Given the description of an element on the screen output the (x, y) to click on. 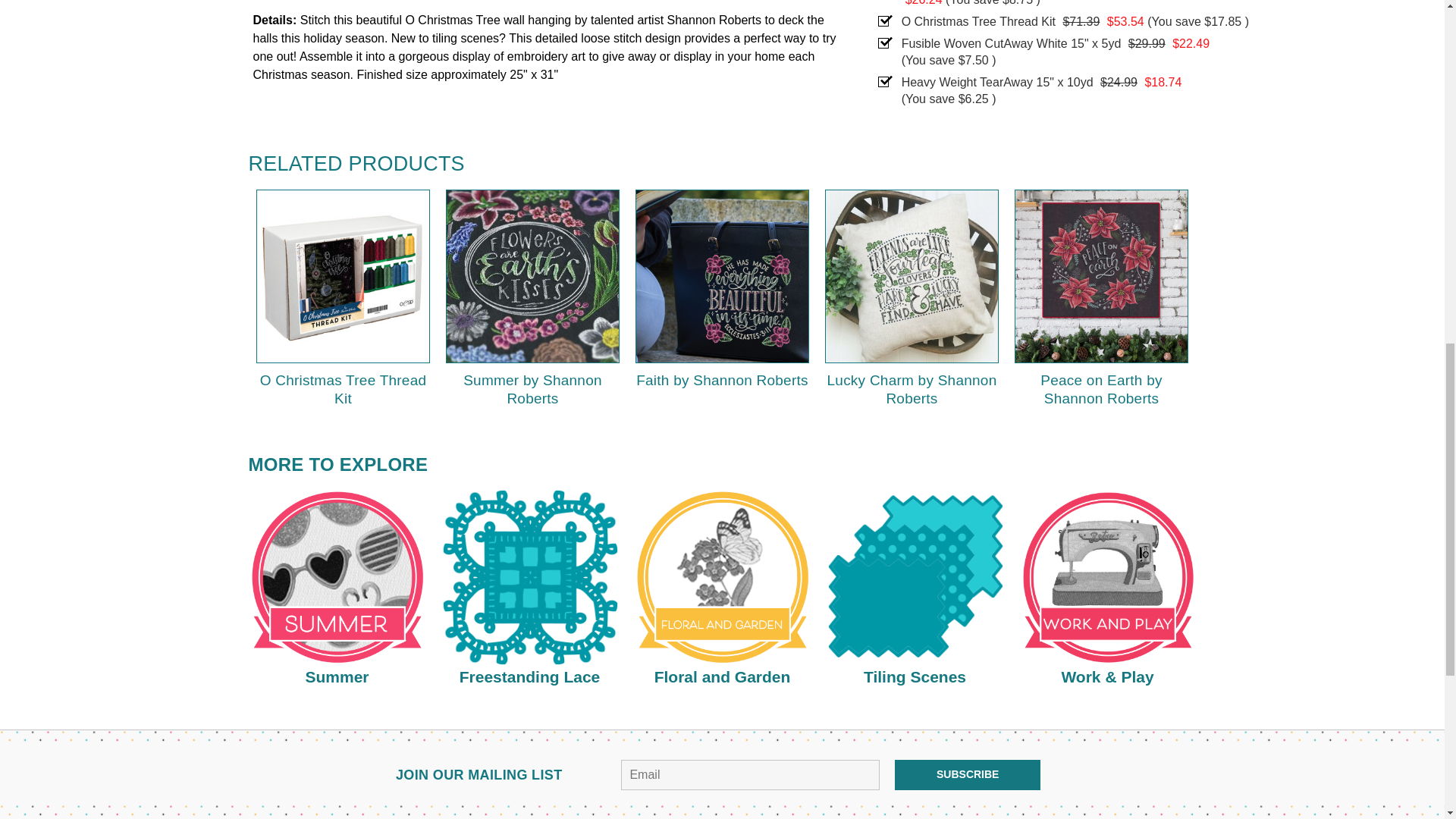
Subscribe (968, 775)
Summer by Shannon Roberts (532, 276)
O Christmas Tree Thread Kit (343, 276)
Lucky Charm by Shannon Roberts (911, 276)
Faith by Shannon Roberts (722, 276)
Peace on Earth by Shannon Roberts (1101, 276)
